Given the description of an element on the screen output the (x, y) to click on. 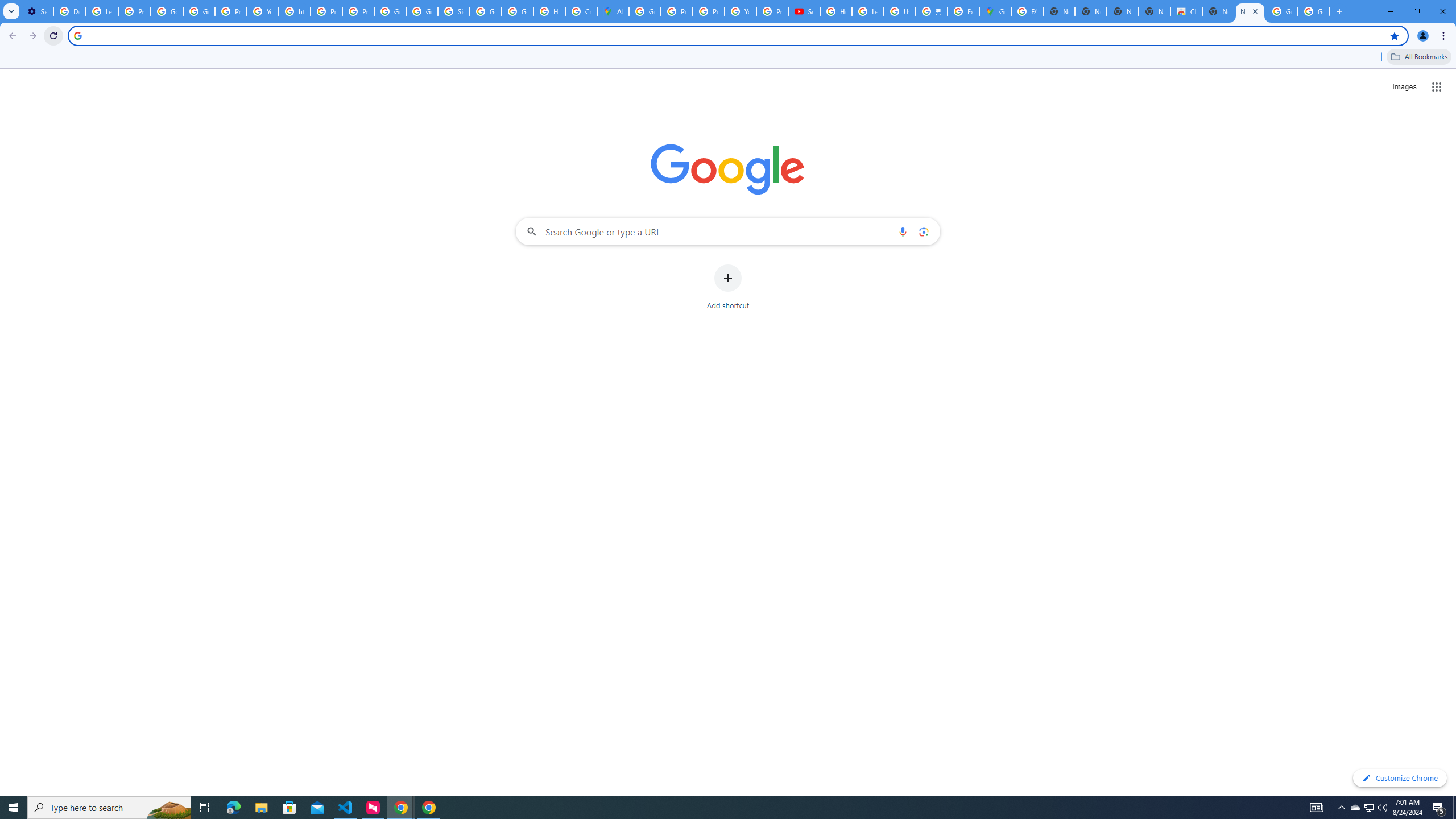
Google Account Help (166, 11)
https://scholar.google.com/ (294, 11)
Delete photos & videos - Computer - Google Photos Help (69, 11)
Search for Images  (1403, 87)
Chrome Web Store (1185, 11)
Search by voice (902, 230)
Privacy Help Center - Policies Help (676, 11)
